Given the description of an element on the screen output the (x, y) to click on. 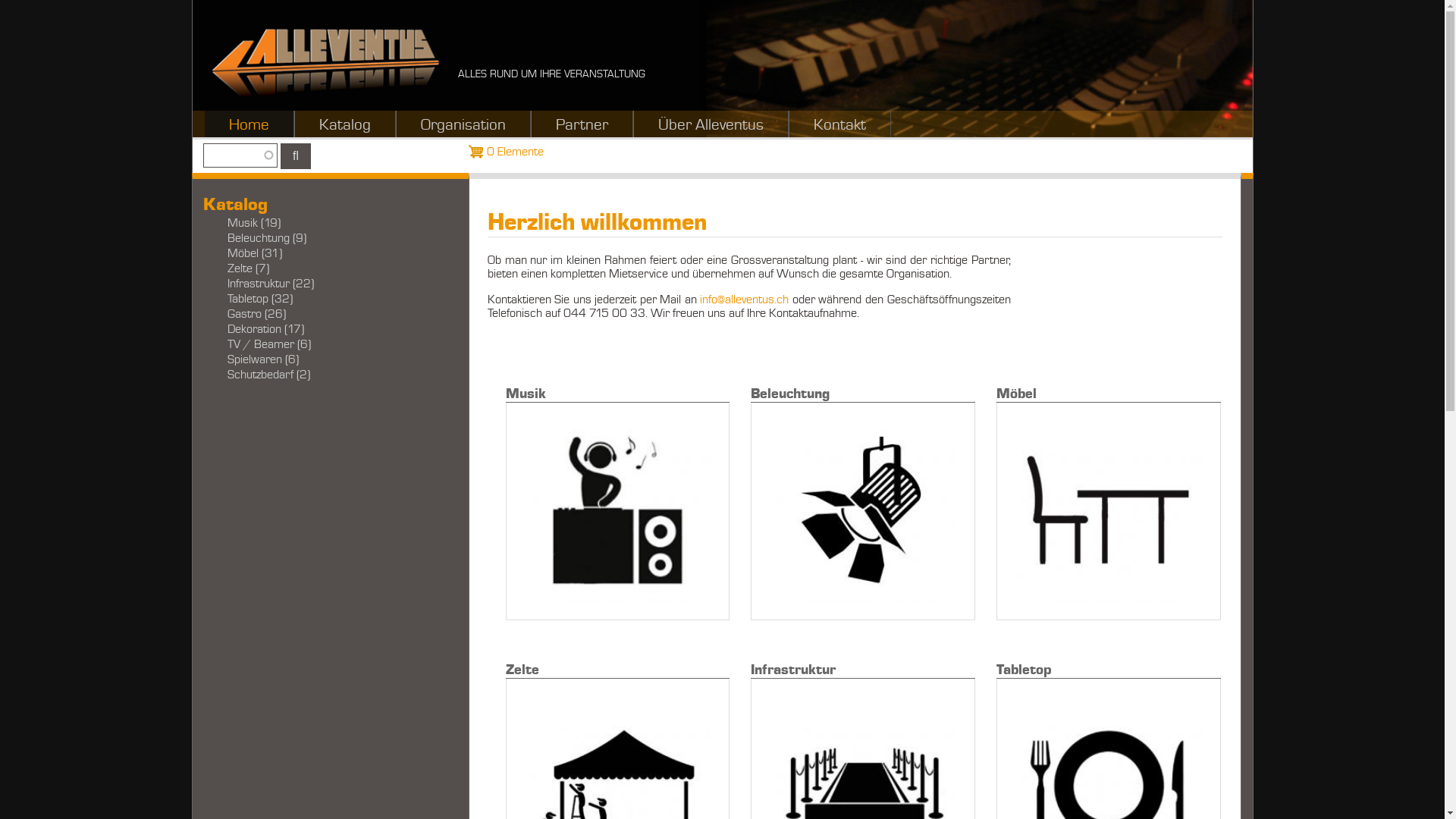
Zelte (7) Element type: text (324, 268)
Partner Element type: text (580, 123)
Organisation Element type: text (462, 123)
Tabletop (32) Element type: text (324, 298)
Schutzbedarf (2) Element type: text (324, 374)
info@alleventus.ch Element type: text (743, 299)
TV / Beamer (6) Element type: text (324, 344)
Gastro (26) Element type: text (324, 313)
Spielwaren (6) Element type: text (324, 359)
Kontakt Element type: text (838, 123)
Home Element type: text (248, 123)
Musik (19) Element type: text (324, 222)
0 Elemente Element type: text (589, 151)
Infrastruktur (22) Element type: text (324, 283)
Beleuchtung Element type: text (853, 495)
Die Begriffe eingeben, nach denen gesucht werden soll. Element type: hover (240, 155)
Musik Element type: text (608, 495)
Dekoration (17) Element type: text (324, 328)
Beleuchtung (9) Element type: text (324, 237)
Direkt zum Inhalt Element type: text (0, 0)
Katalog Element type: text (344, 123)
Home Element type: hover (324, 62)
